Given the description of an element on the screen output the (x, y) to click on. 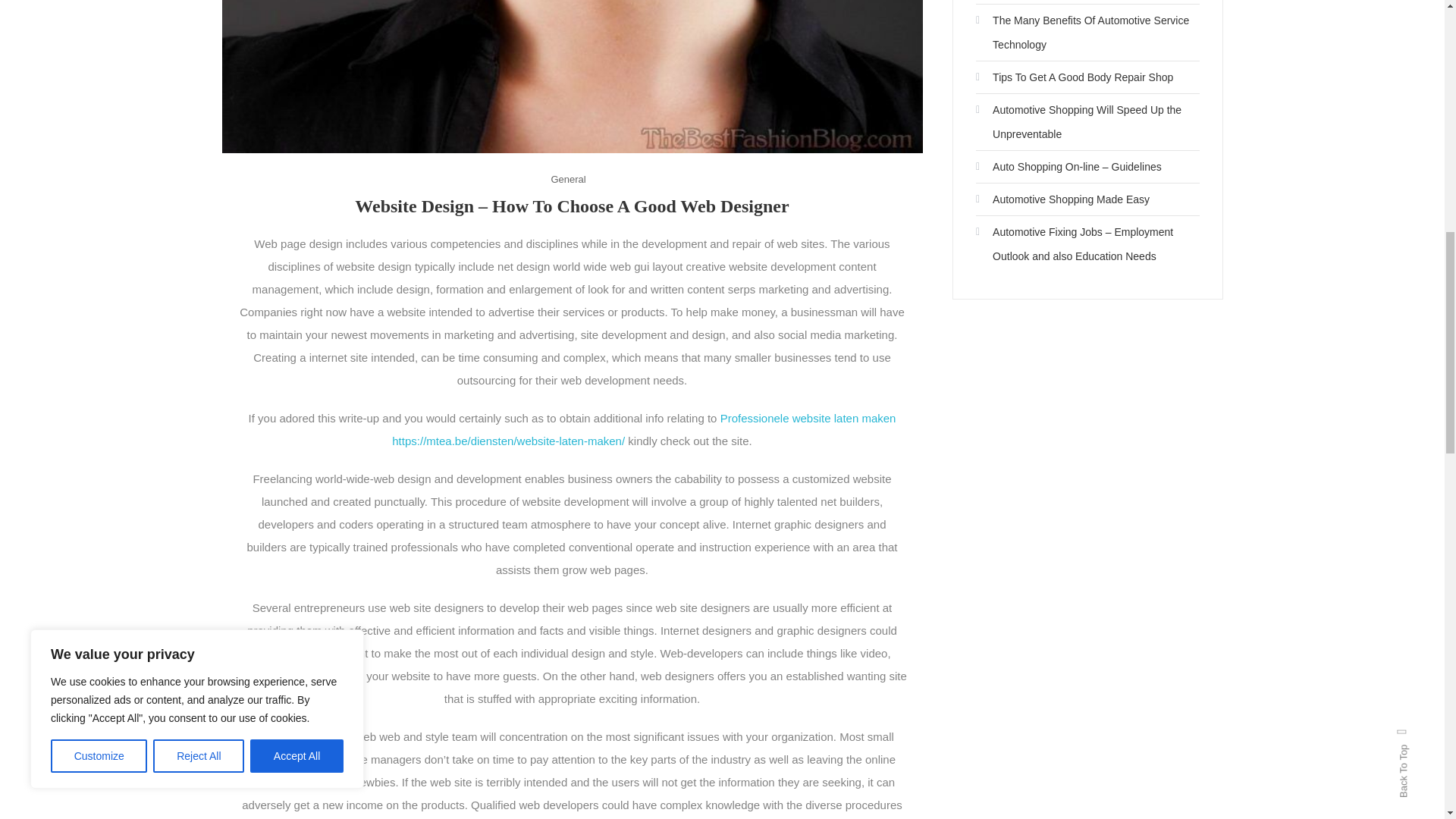
General (567, 179)
